Given the description of an element on the screen output the (x, y) to click on. 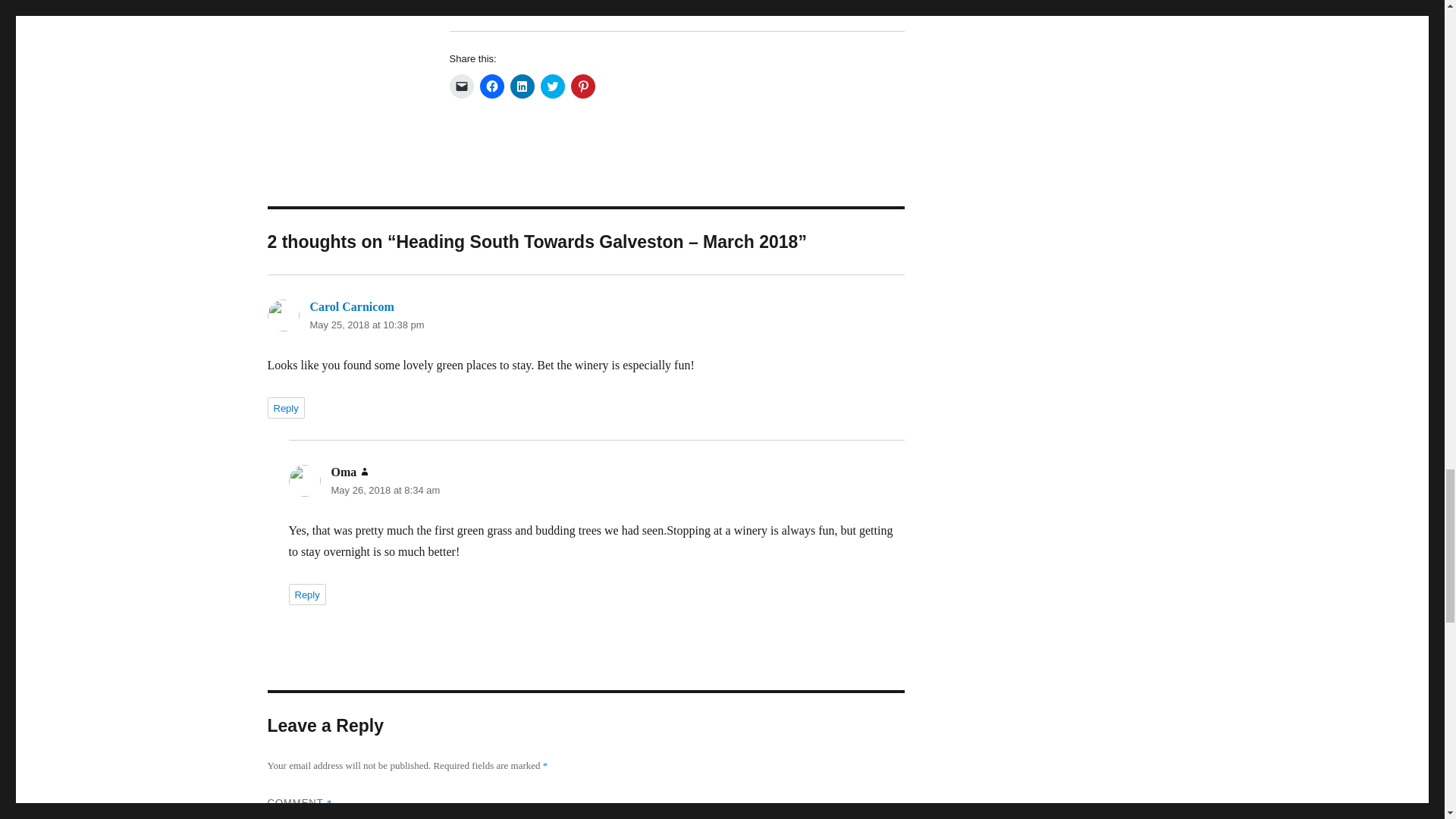
Click to share on LinkedIn (521, 86)
May 26, 2018 at 8:34 am (384, 490)
Carol Carnicom (350, 306)
Click to email a link to a friend (460, 86)
Click to share on Facebook (491, 86)
Reply (306, 594)
Click to share on Twitter (552, 86)
Click to share on Pinterest (582, 86)
Reply (285, 407)
May 25, 2018 at 10:38 pm (365, 324)
